Given the description of an element on the screen output the (x, y) to click on. 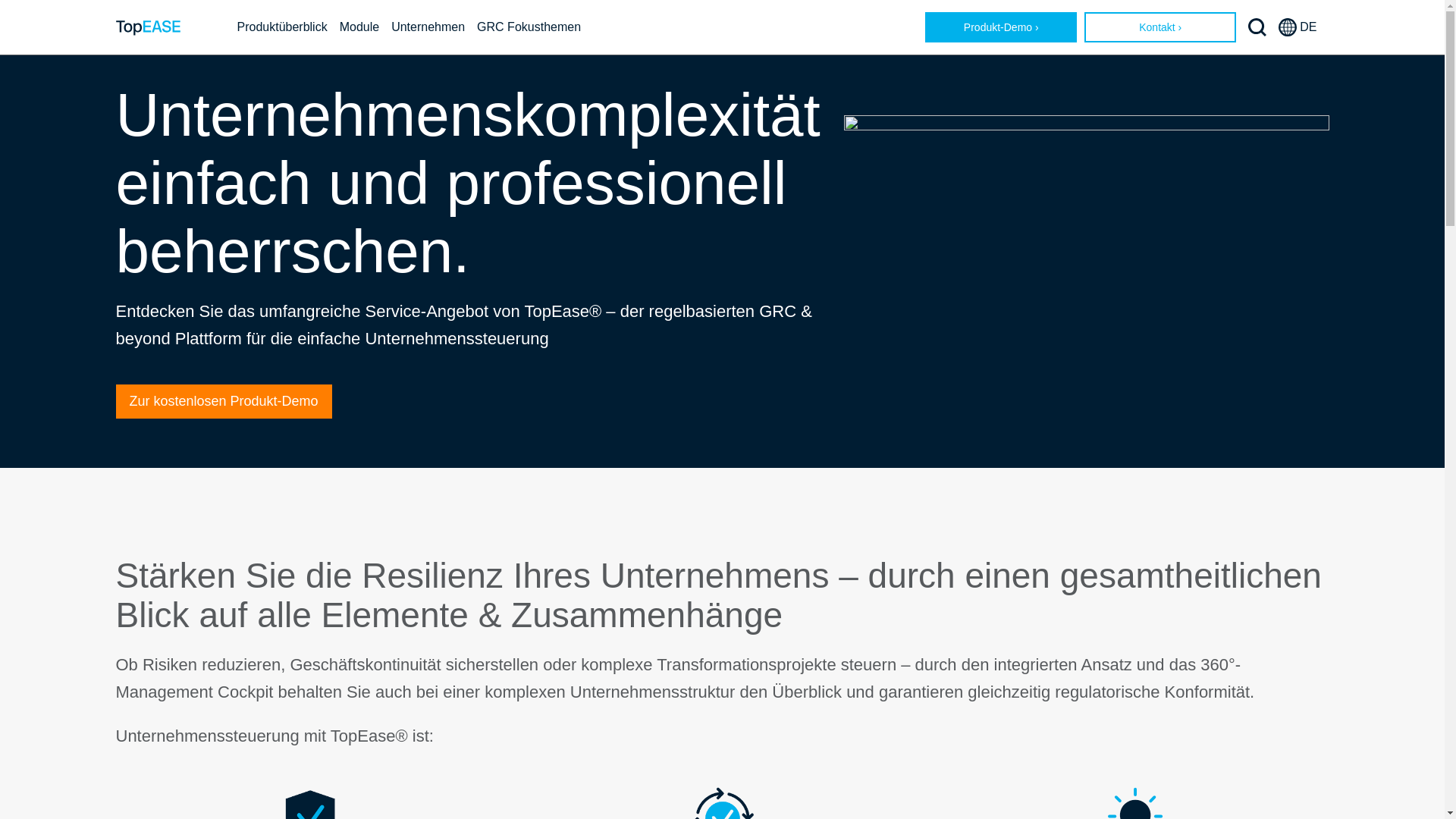
Unternehmen Element type: text (427, 26)
Kontakt Element type: text (1160, 27)
Zur kostenlosen Produkt-Demo Element type: text (223, 401)
GRC Fokusthemen Element type: text (528, 27)
DE Element type: text (1297, 27)
Produkt-Demo Element type: text (1000, 27)
Module Element type: text (359, 27)
